Given the description of an element on the screen output the (x, y) to click on. 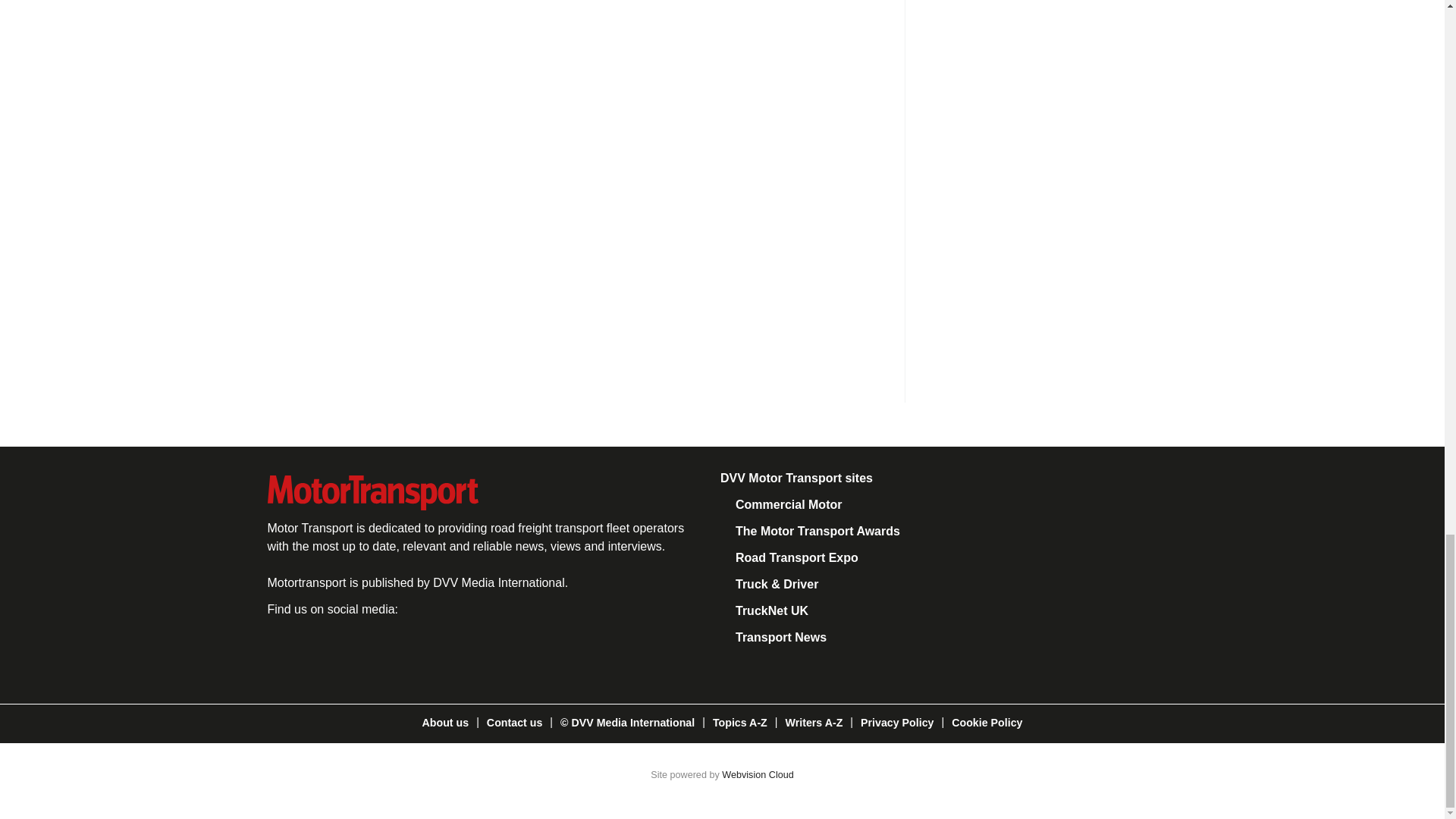
Connect with us on Facebook (284, 648)
Connect with us on Linked in (387, 648)
Connect with us on Twitter (336, 648)
Email us (438, 648)
